Given the description of an element on the screen output the (x, y) to click on. 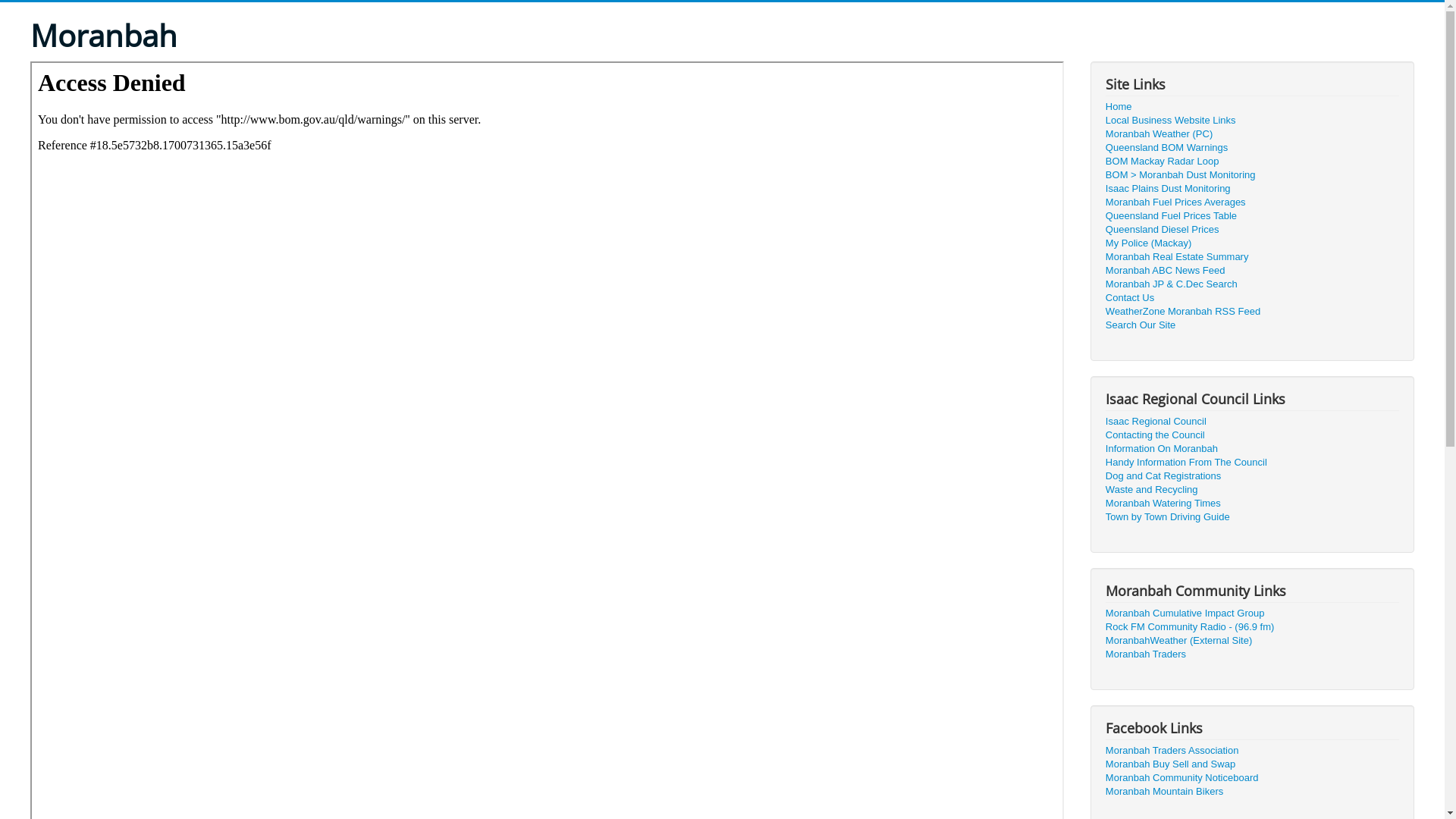
BOM > Moranbah Dust Monitoring Element type: text (1252, 175)
Moranbah Traders Association Element type: text (1252, 750)
Queensland BOM Warnings Element type: text (1252, 147)
Moranbah JP & C.Dec Search Element type: text (1252, 284)
Moranbah Real Estate Summary Element type: text (1252, 256)
Contact Us Element type: text (1252, 297)
MoranbahWeather (External Site) Element type: text (1252, 640)
Dog and Cat Registrations Element type: text (1252, 476)
Moranbah ABC News Feed Element type: text (1252, 270)
My Police (Mackay) Element type: text (1252, 243)
Moranbah Fuel Prices Averages Element type: text (1252, 202)
Moranbah Weather (PC) Element type: text (1252, 134)
Home Element type: text (1252, 106)
Queensland Diesel Prices Element type: text (1252, 229)
Contacting the Council Element type: text (1252, 435)
Moranbah Buy Sell and Swap Element type: text (1252, 764)
Moranbah Element type: text (103, 35)
Moranbah Mountain Bikers Element type: text (1252, 791)
Isaac Plains Dust Monitoring Element type: text (1252, 188)
Moranbah Community Noticeboard Element type: text (1252, 777)
Information On Moranbah Element type: text (1252, 448)
BOM Mackay Radar Loop Element type: text (1252, 161)
WeatherZone Moranbah RSS Feed Element type: text (1252, 311)
Queensland Fuel Prices Table Element type: text (1252, 215)
Moranbah Traders Element type: text (1252, 654)
Handy Information From The Council Element type: text (1252, 462)
Town by Town Driving Guide Element type: text (1252, 517)
Rock FM Community Radio - (96.9 fm) Element type: text (1252, 626)
Moranbah Watering Times Element type: text (1252, 503)
Isaac Regional Council Element type: text (1252, 421)
Local Business Website Links Element type: text (1252, 120)
Search Our Site Element type: text (1252, 325)
Moranbah Cumulative Impact Group Element type: text (1252, 613)
Waste and Recycling Element type: text (1252, 489)
